Given the description of an element on the screen output the (x, y) to click on. 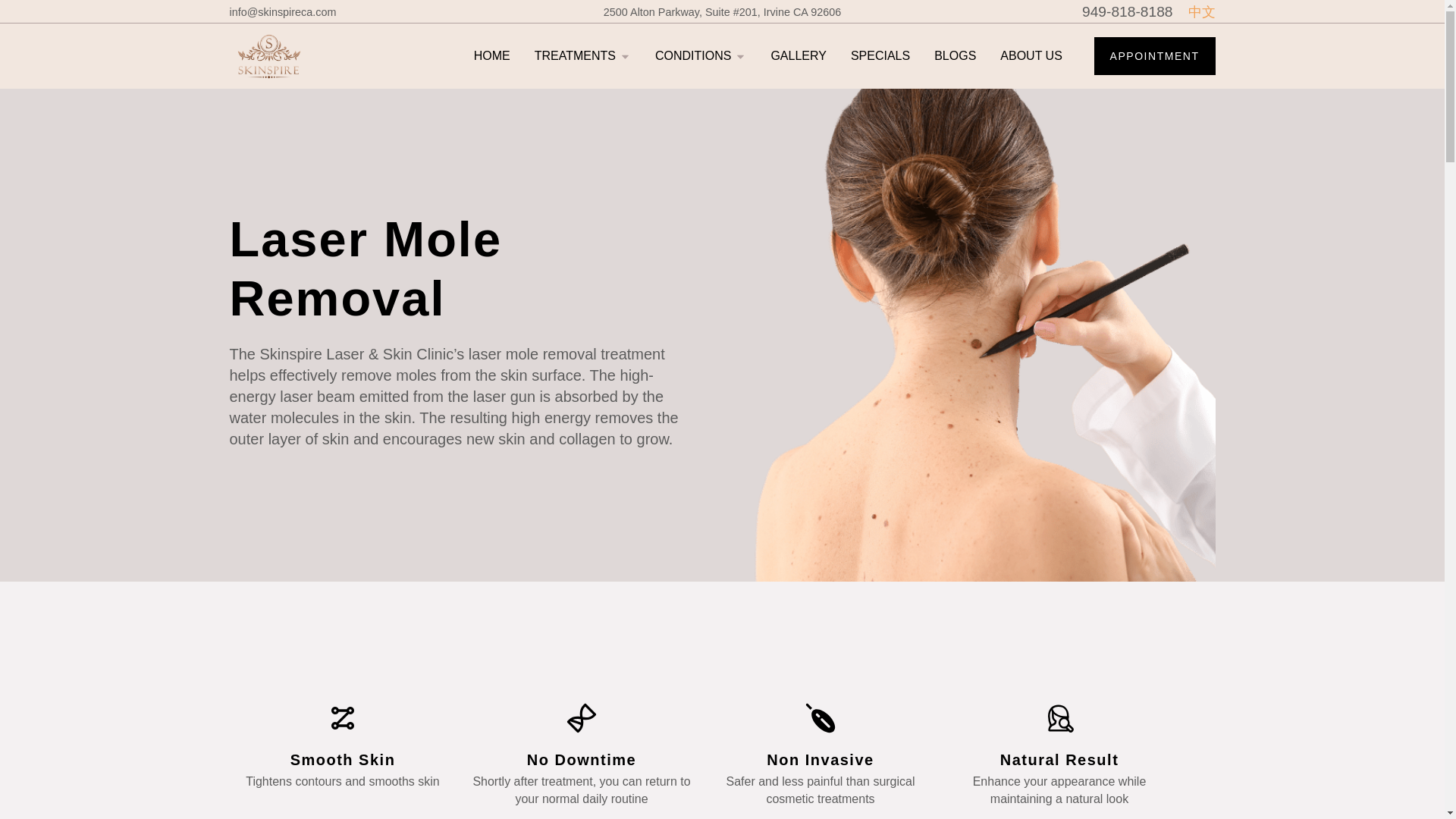
GALLERY (798, 55)
949-818-8188 (1127, 12)
ABOUT US (1031, 55)
HOME (492, 55)
BLOGS (954, 55)
SPECIALS (880, 55)
